Given the description of an element on the screen output the (x, y) to click on. 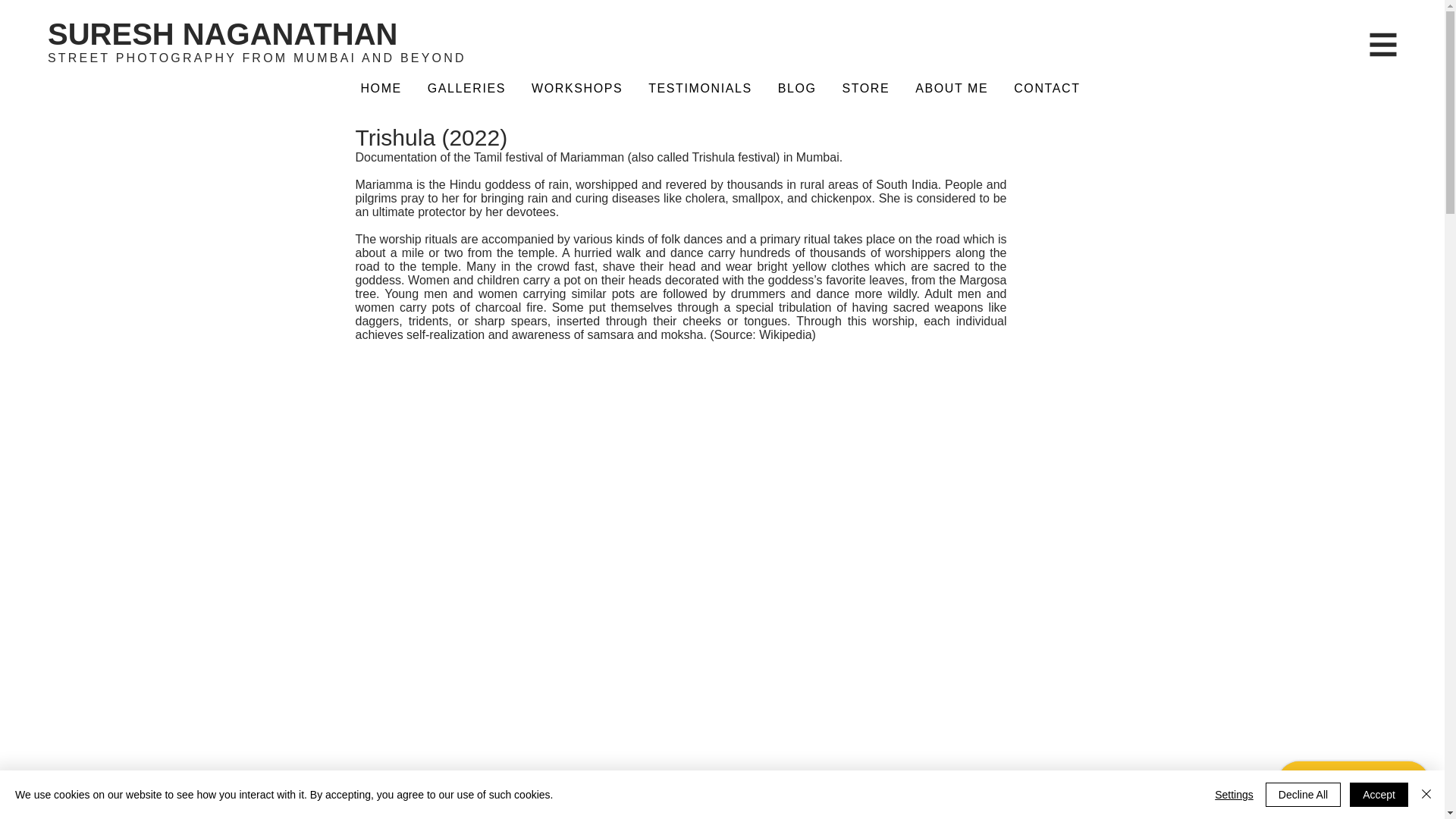
Decline All (1302, 794)
TESTIMONIALS (700, 89)
Accept (1378, 794)
WORKSHOPS (576, 89)
SURESH NAGANATHAN (222, 33)
STORE (865, 89)
HOME (380, 89)
BLOG (797, 89)
ABOUT ME (951, 89)
GALLERIES (466, 89)
CONTACT (1046, 89)
